Given the description of an element on the screen output the (x, y) to click on. 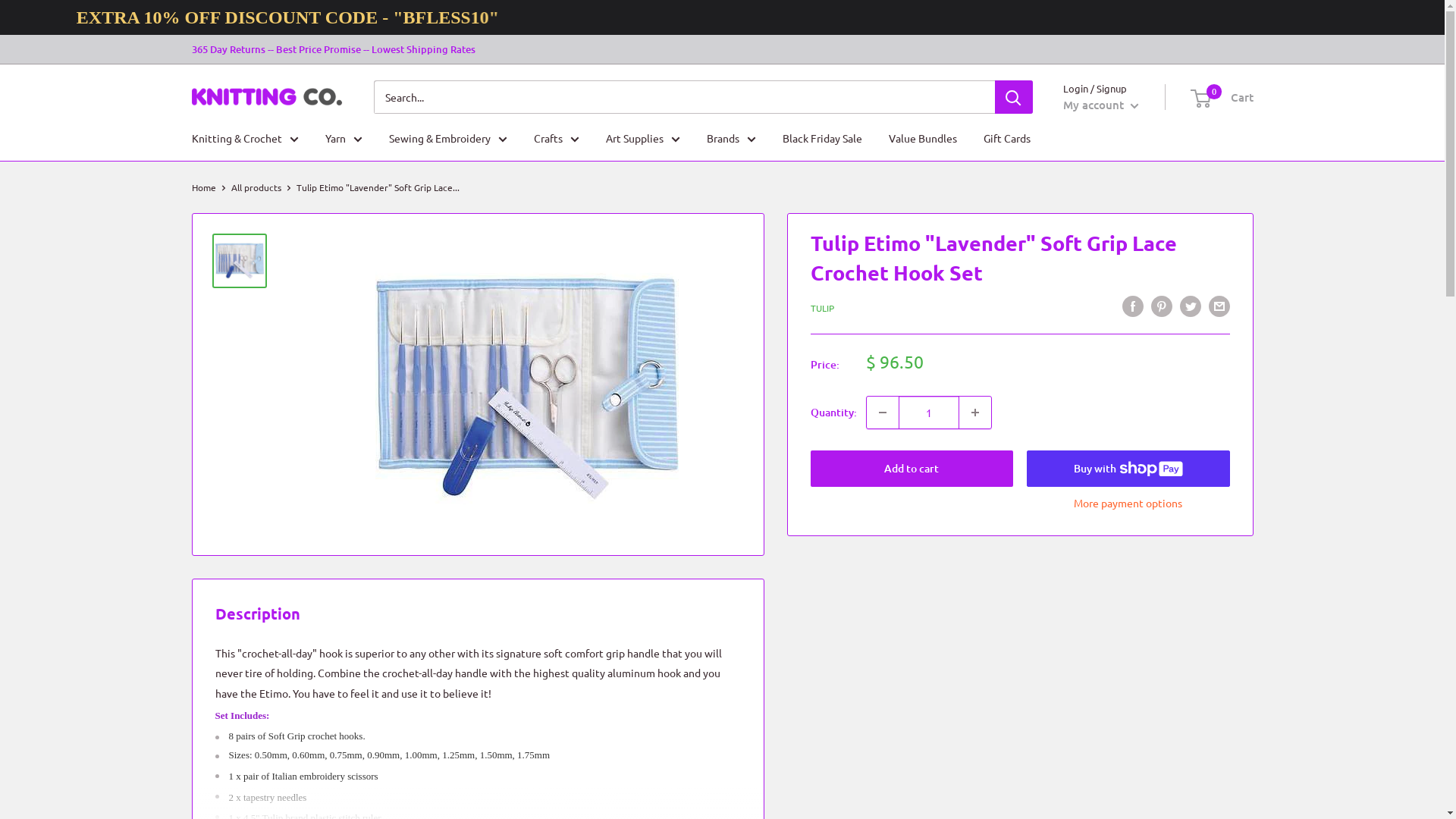
Increase quantity by 1 Element type: hover (974, 412)
Value Bundles Element type: text (922, 137)
Art Supplies Element type: text (642, 102)
Crafts Element type: text (556, 102)
Home Element type: text (203, 187)
Black Friday Sale Element type: text (822, 137)
0
Cart Element type: text (1222, 61)
KNITTING CO. Element type: text (266, 62)
Brands Element type: text (731, 102)
Yarn Element type: text (342, 102)
More payment options Element type: text (1128, 502)
All products Element type: text (255, 187)
Gift Cards Element type: text (1005, 137)
Knitting & Crochet Element type: text (244, 102)
TULIP Element type: text (821, 307)
Decrease quantity by 1 Element type: hover (881, 412)
My account Element type: text (1101, 69)
Add to cart Element type: text (911, 468)
Sewing & Embroidery Element type: text (447, 102)
